Given the description of an element on the screen output the (x, y) to click on. 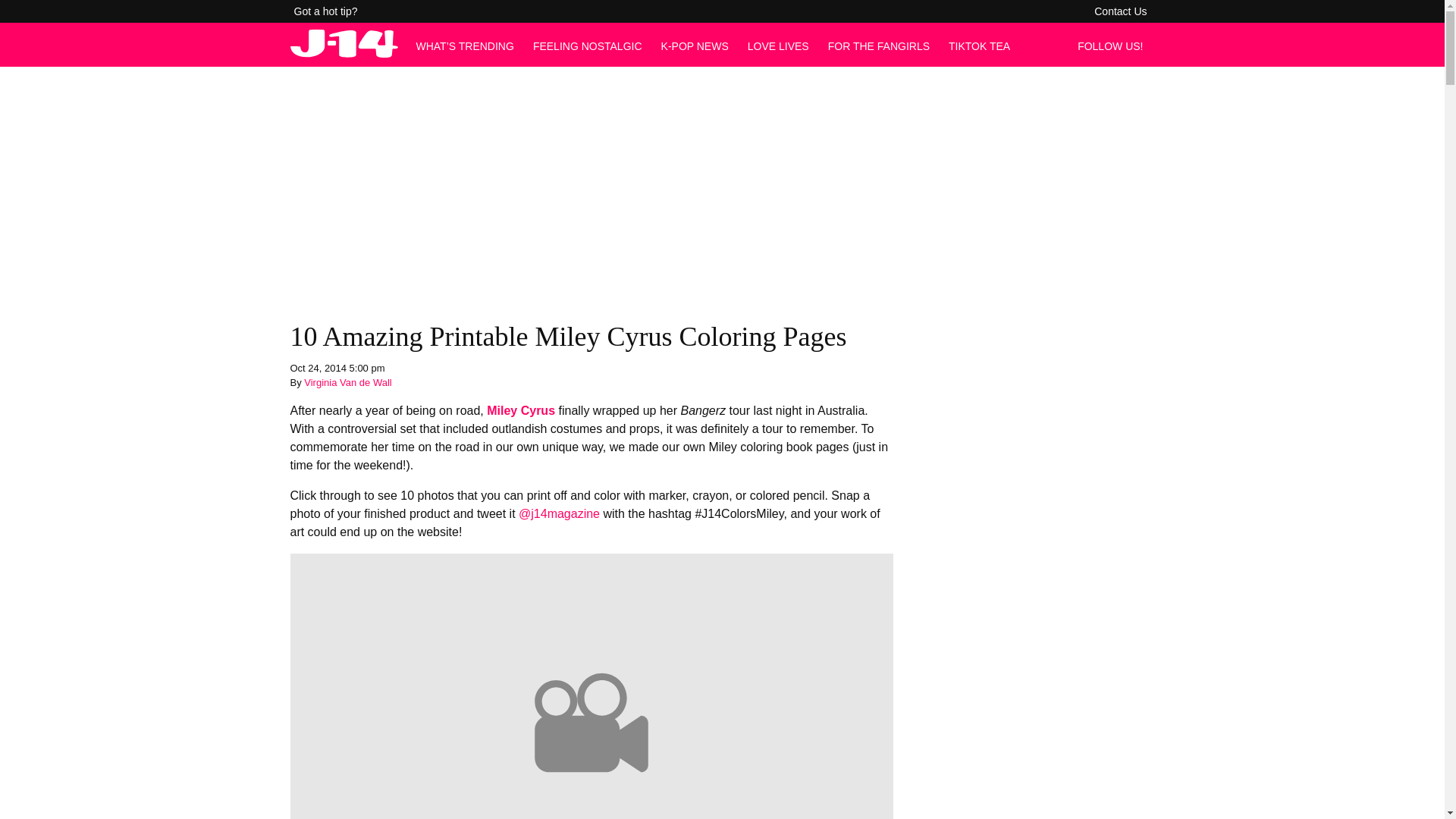
Home (343, 52)
Got a hot tip? (325, 11)
Virginia Van de Wall (347, 382)
Miley Cyrus (520, 410)
LOVE LIVES (778, 46)
FOLLOW US! (1114, 45)
K-POP NEWS (695, 46)
Contact Us (1120, 11)
TIKTOK TEA (979, 46)
FOR THE FANGIRLS (879, 46)
FEELING NOSTALGIC (587, 46)
Posts by Virginia Van de Wall (347, 382)
